Given the description of an element on the screen output the (x, y) to click on. 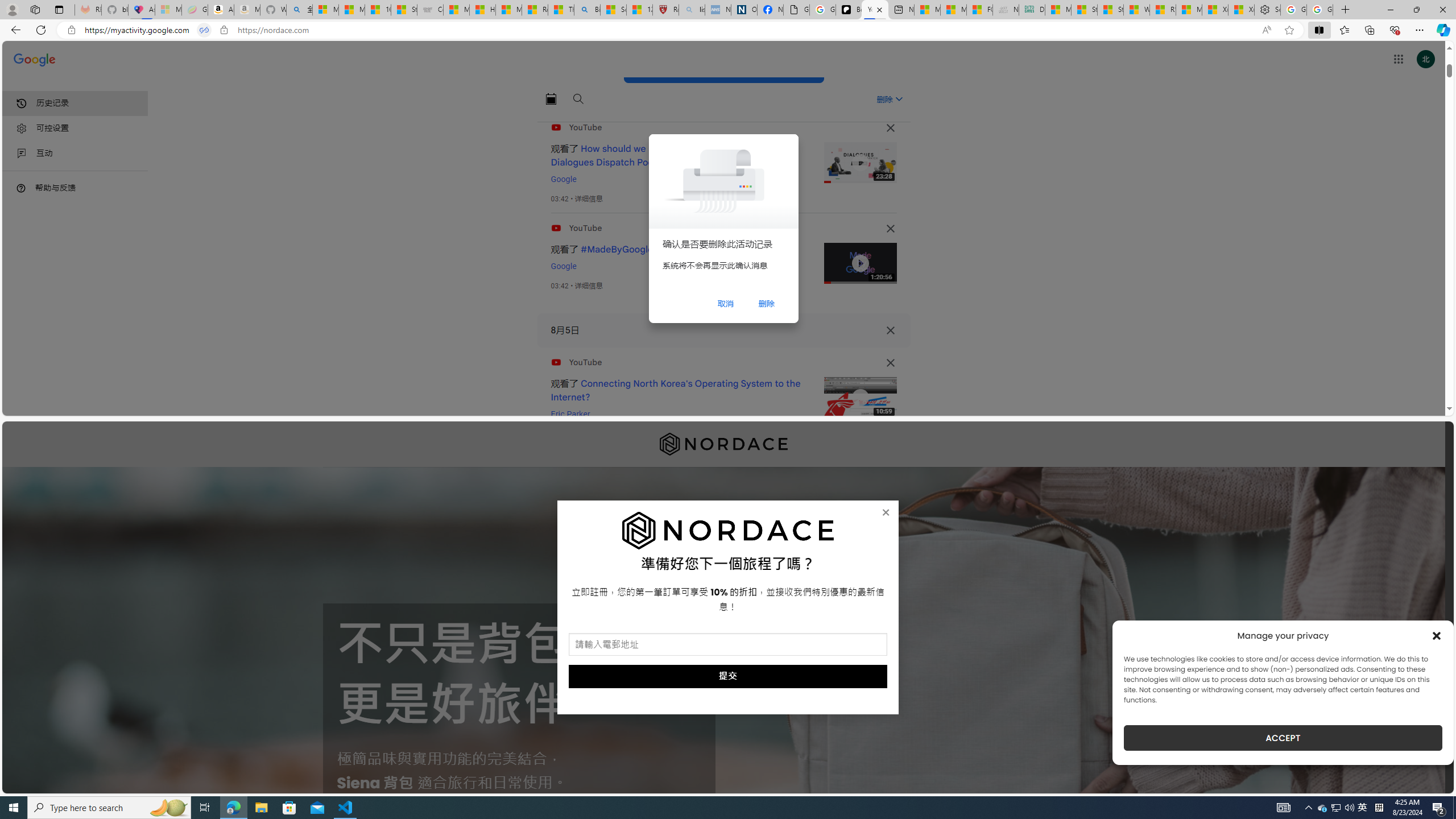
R******* | Trusted Community Engagement and Contributions (1162, 9)
Bing (587, 9)
Class: i2GIId (21, 153)
Google (563, 266)
